Given the description of an element on the screen output the (x, y) to click on. 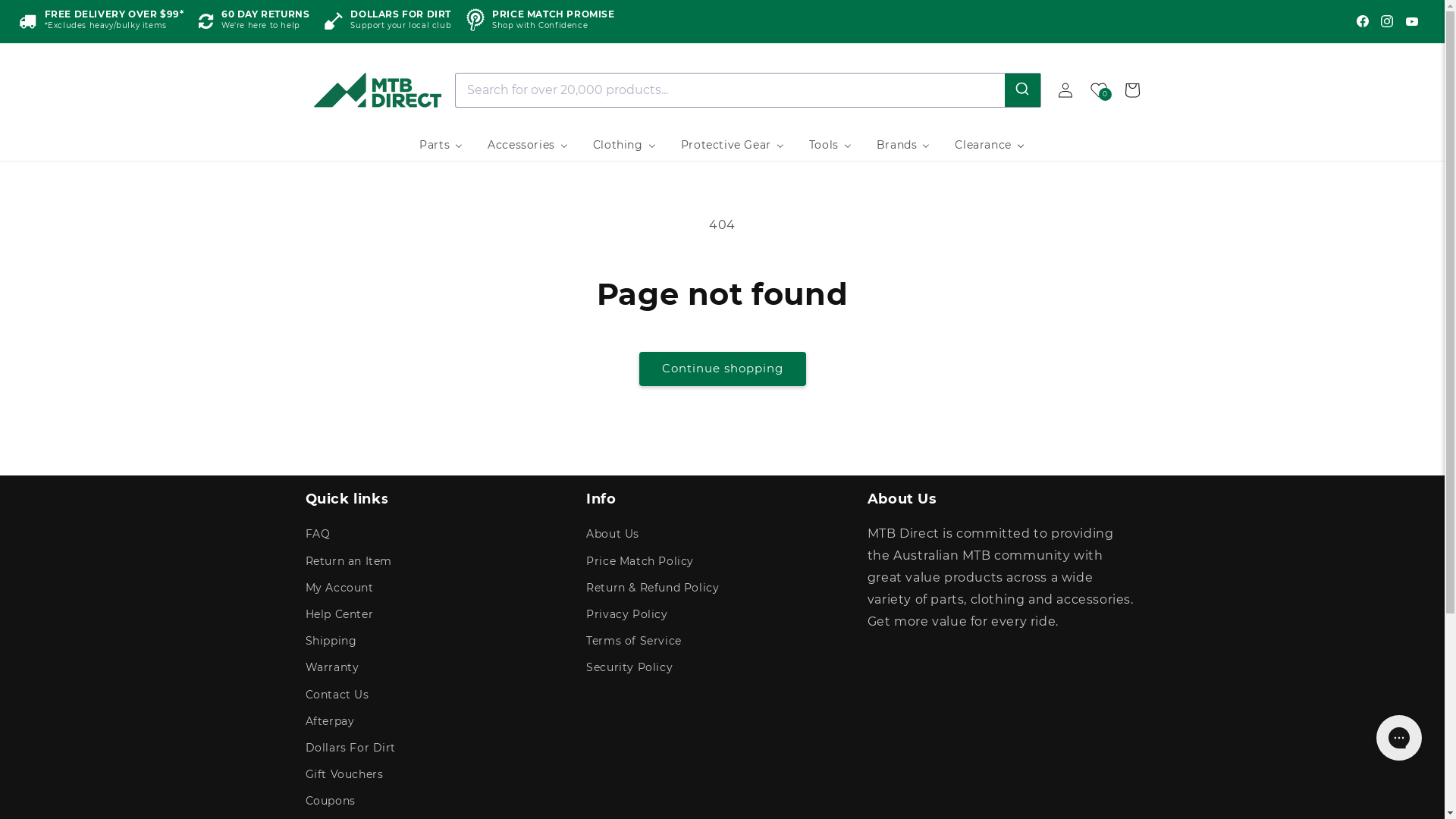
Submit Element type: hover (1021, 89)
Dollars For Dirt Element type: text (349, 747)
0 Element type: text (1097, 89)
Continue shopping Element type: text (721, 368)
Gift Vouchers Element type: text (343, 774)
Return an Item Element type: text (347, 561)
Parts Element type: text (441, 144)
Protective Gear Element type: text (732, 144)
Coupons Element type: text (329, 800)
Accessories Element type: text (527, 144)
Security Policy Element type: text (629, 667)
FAQ Element type: text (316, 535)
Gorgias live chat messenger Element type: hover (1398, 737)
Find us on Instagram Element type: text (1386, 20)
Return & Refund Policy Element type: text (652, 587)
My Account Element type: text (338, 587)
60 DAY RETURNS
We're here to help Element type: text (253, 21)
Cart Element type: text (1131, 89)
Tools Element type: text (830, 144)
Find us on YouTube Element type: text (1411, 20)
Help Center Element type: text (338, 614)
Shipping Element type: text (330, 640)
Terms of Service Element type: text (633, 640)
Privacy Policy Element type: text (626, 614)
Warranty Element type: text (331, 667)
About Us Element type: text (612, 535)
Brands Element type: text (903, 144)
Afterpay Element type: text (329, 721)
Clothing Element type: text (624, 144)
Find us on Facebook Element type: text (1362, 20)
Clearance Element type: text (989, 144)
Contact Us Element type: text (336, 693)
FREE DELIVERY OVER $99*
*Excludes heavy/bulky items Element type: text (100, 21)
Price Match Policy Element type: text (639, 561)
Log in Element type: text (1064, 89)
